Given the description of an element on the screen output the (x, y) to click on. 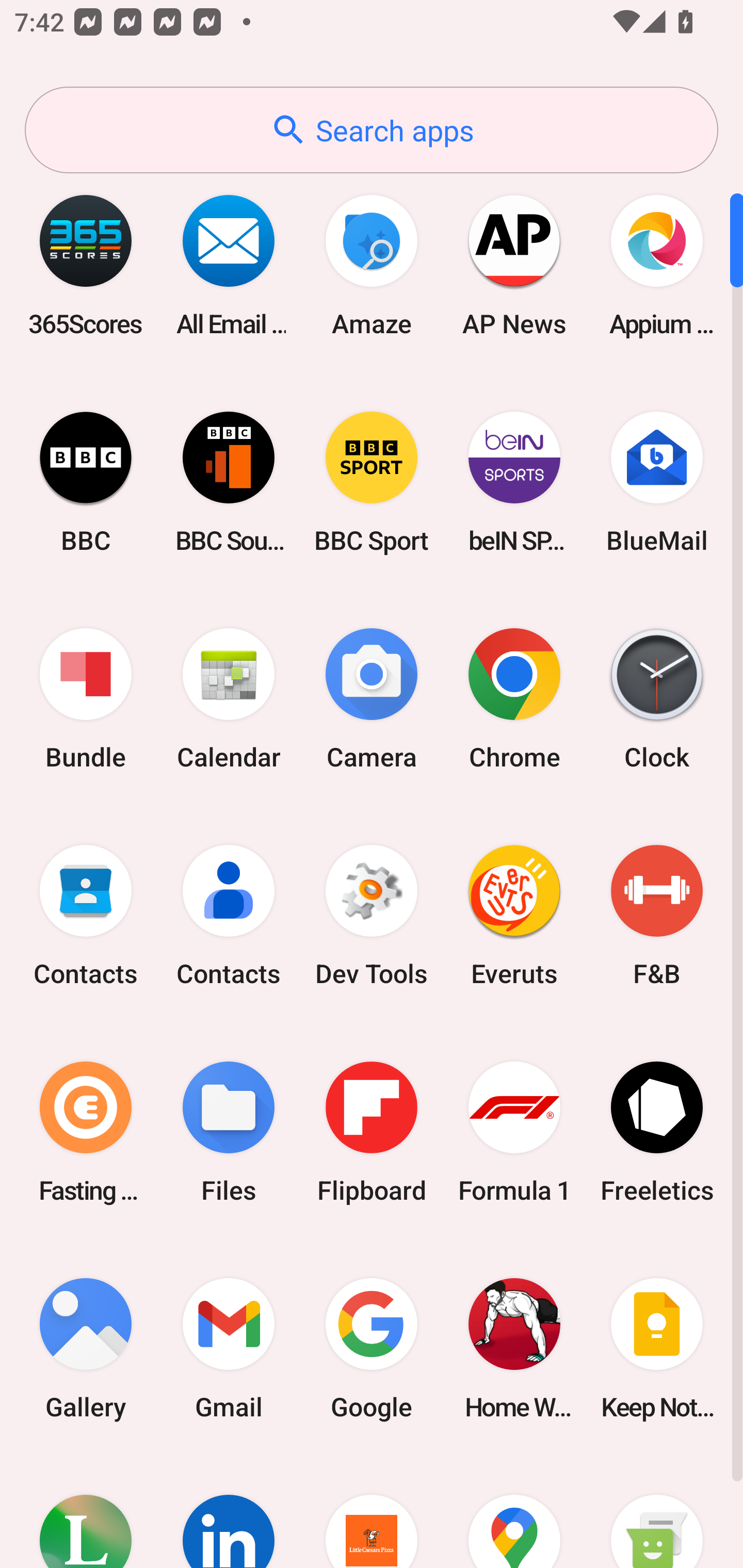
  Search apps (371, 130)
365Scores (85, 264)
All Email Connect (228, 264)
Amaze (371, 264)
AP News (514, 264)
Appium Settings (656, 264)
BBC (85, 482)
BBC Sounds (228, 482)
BBC Sport (371, 482)
beIN SPORTS (514, 482)
BlueMail (656, 482)
Bundle (85, 699)
Calendar (228, 699)
Camera (371, 699)
Chrome (514, 699)
Clock (656, 699)
Contacts (85, 915)
Contacts (228, 915)
Dev Tools (371, 915)
Everuts (514, 915)
F&B (656, 915)
Fasting Coach (85, 1131)
Files (228, 1131)
Flipboard (371, 1131)
Formula 1 (514, 1131)
Freeletics (656, 1131)
Gallery (85, 1348)
Gmail (228, 1348)
Google (371, 1348)
Home Workout (514, 1348)
Keep Notes (656, 1348)
Lifesum (85, 1512)
LinkedIn (228, 1512)
Little Caesars Pizza (371, 1512)
Maps (514, 1512)
Messaging (656, 1512)
